Given the description of an element on the screen output the (x, y) to click on. 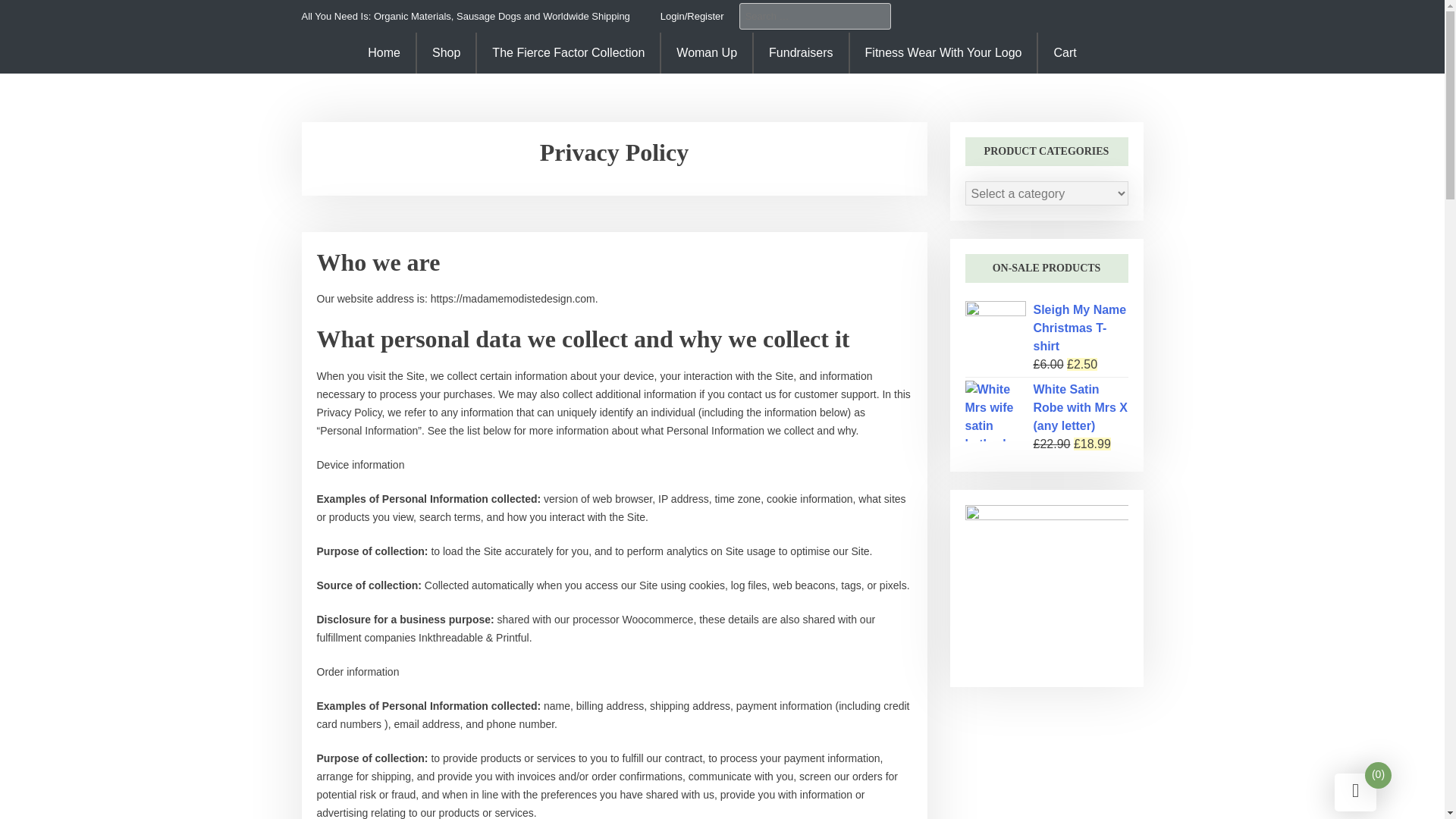
Cart (1063, 52)
Shop (446, 52)
Woman Up (706, 52)
Home (384, 52)
The Fierce Factor Collection (568, 52)
Fundraisers (800, 52)
Sleigh My Name Christmas T-shirt (1044, 328)
Search (35, 11)
Fitness Wear With Your Logo (943, 52)
